Given the description of an element on the screen output the (x, y) to click on. 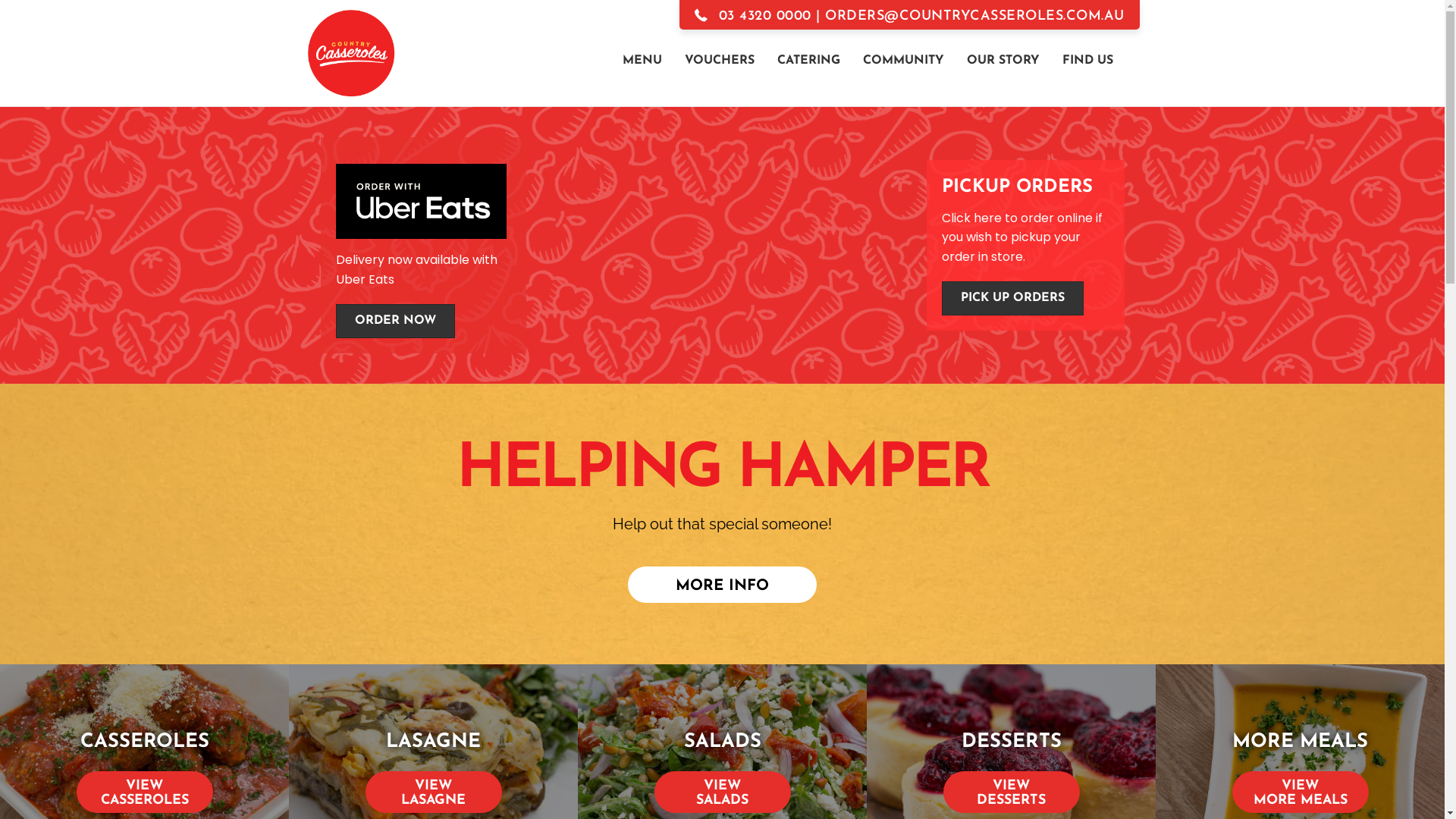
VIEW
SALADS Element type: text (721, 791)
MORE INFO Element type: text (721, 584)
PICK UP ORDERS Element type: text (1012, 298)
VIEW
CASSEROLES Element type: text (143, 791)
PICKUP ORDERS Element type: text (1016, 187)
MENU Element type: text (642, 58)
VIEW
LASAGNE Element type: text (433, 791)
ORDER NOW Element type: text (394, 321)
CATERING Element type: text (808, 58)
VOUCHERS Element type: text (719, 58)
03 4320 0000 | ORDERS@COUNTRYCASSEROLES.COM.AU Element type: text (909, 14)
FIND US Element type: text (1087, 58)
VIEW
MORE MEALS Element type: text (1299, 791)
OUR STORY Element type: text (1003, 58)
VIEW
DESSERTS Element type: text (1011, 791)
uber_eats Element type: hover (420, 200)
COMMUNITY Element type: text (903, 58)
logo-ccs Element type: hover (349, 52)
